Given the description of an element on the screen output the (x, y) to click on. 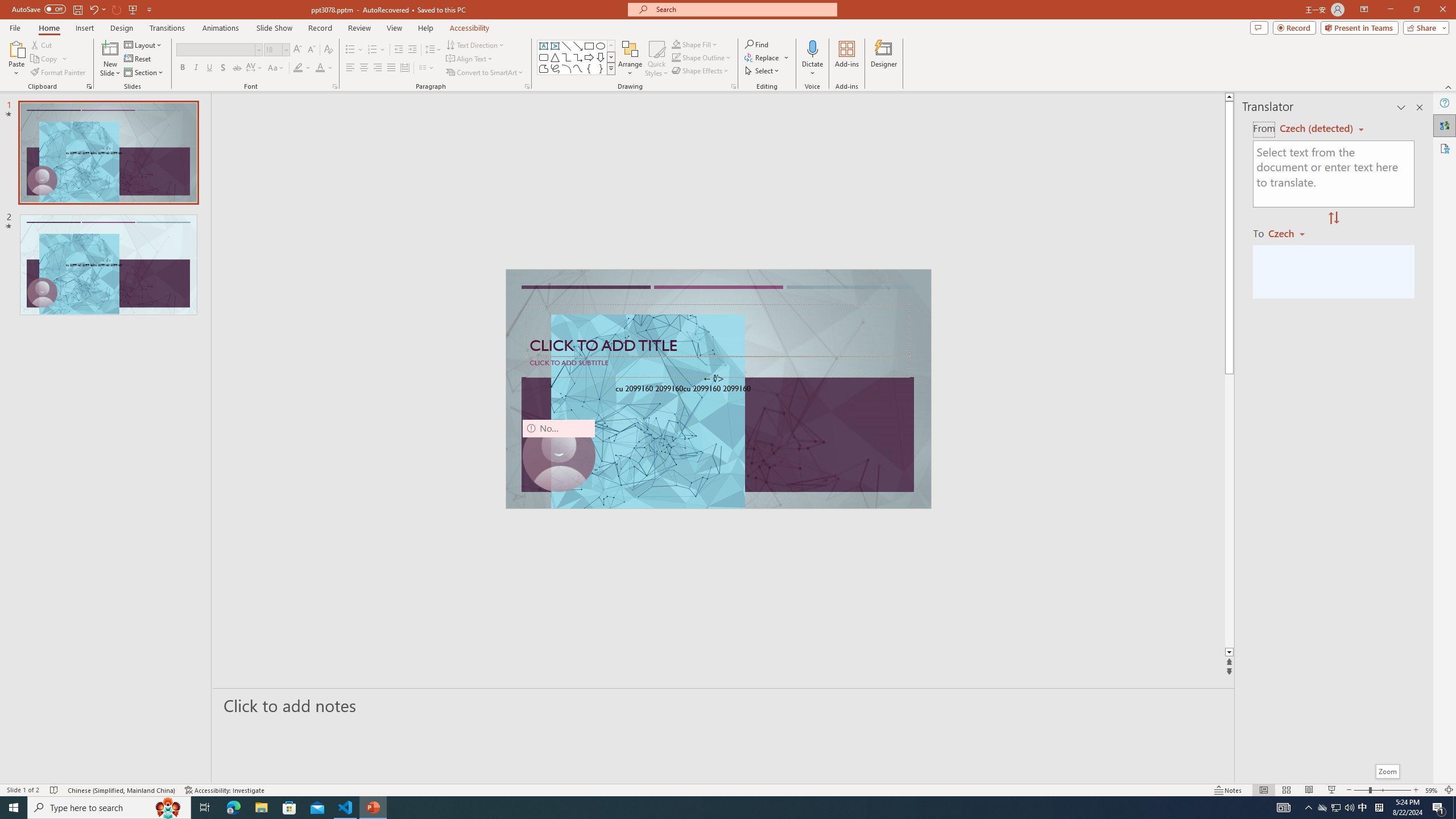
Camera 9, No camera detected. (558, 455)
Shape Fill Dark Green, Accent 2 (675, 44)
